Given the description of an element on the screen output the (x, y) to click on. 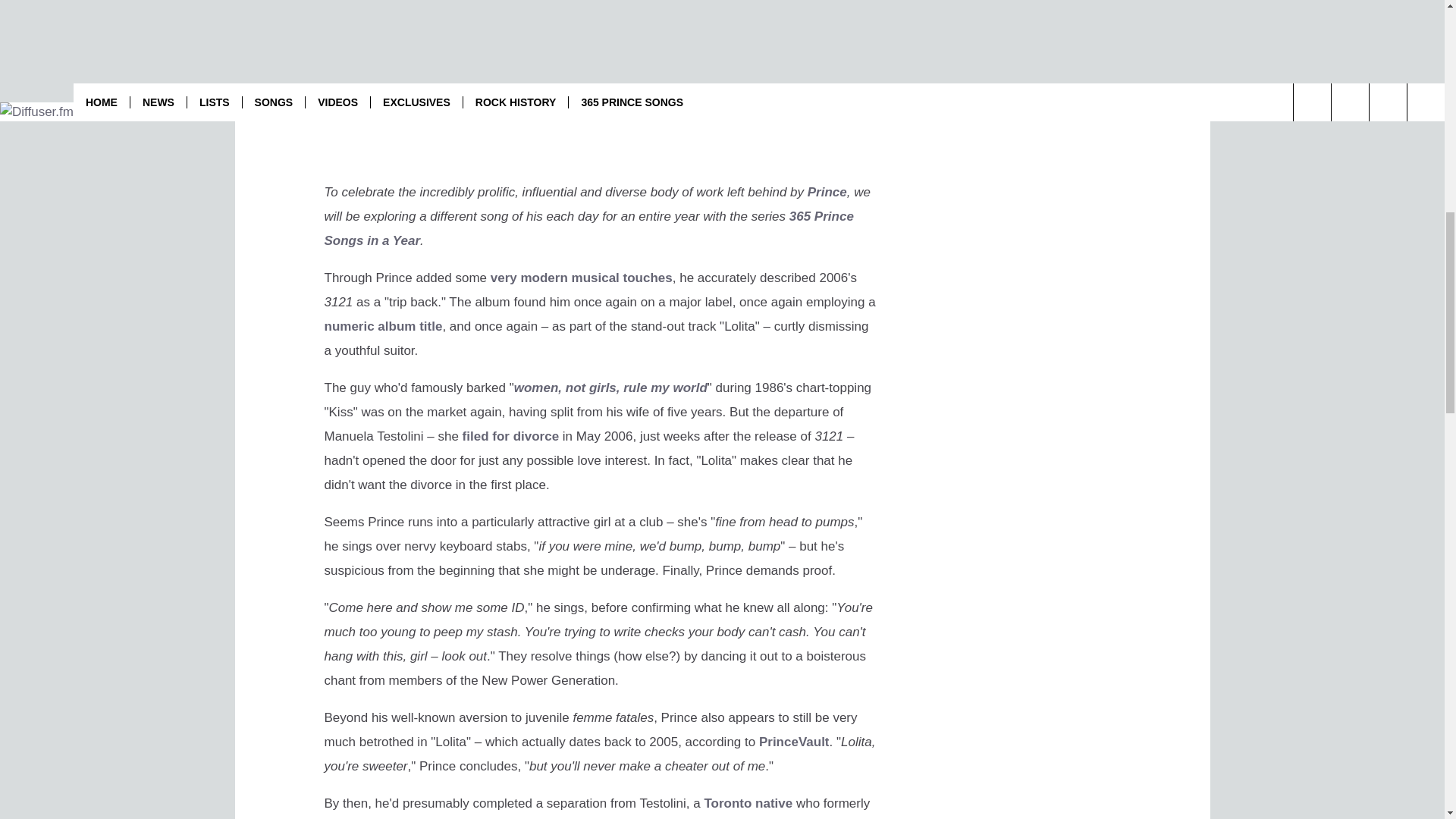
very modern musical touches (581, 278)
365 Prince Songs in a Year (588, 228)
PrinceVault (793, 741)
women, not girls, rule my world (610, 387)
Toronto native (747, 803)
numeric album title (383, 326)
Prince (827, 192)
filed for divorce (511, 436)
